Given the description of an element on the screen output the (x, y) to click on. 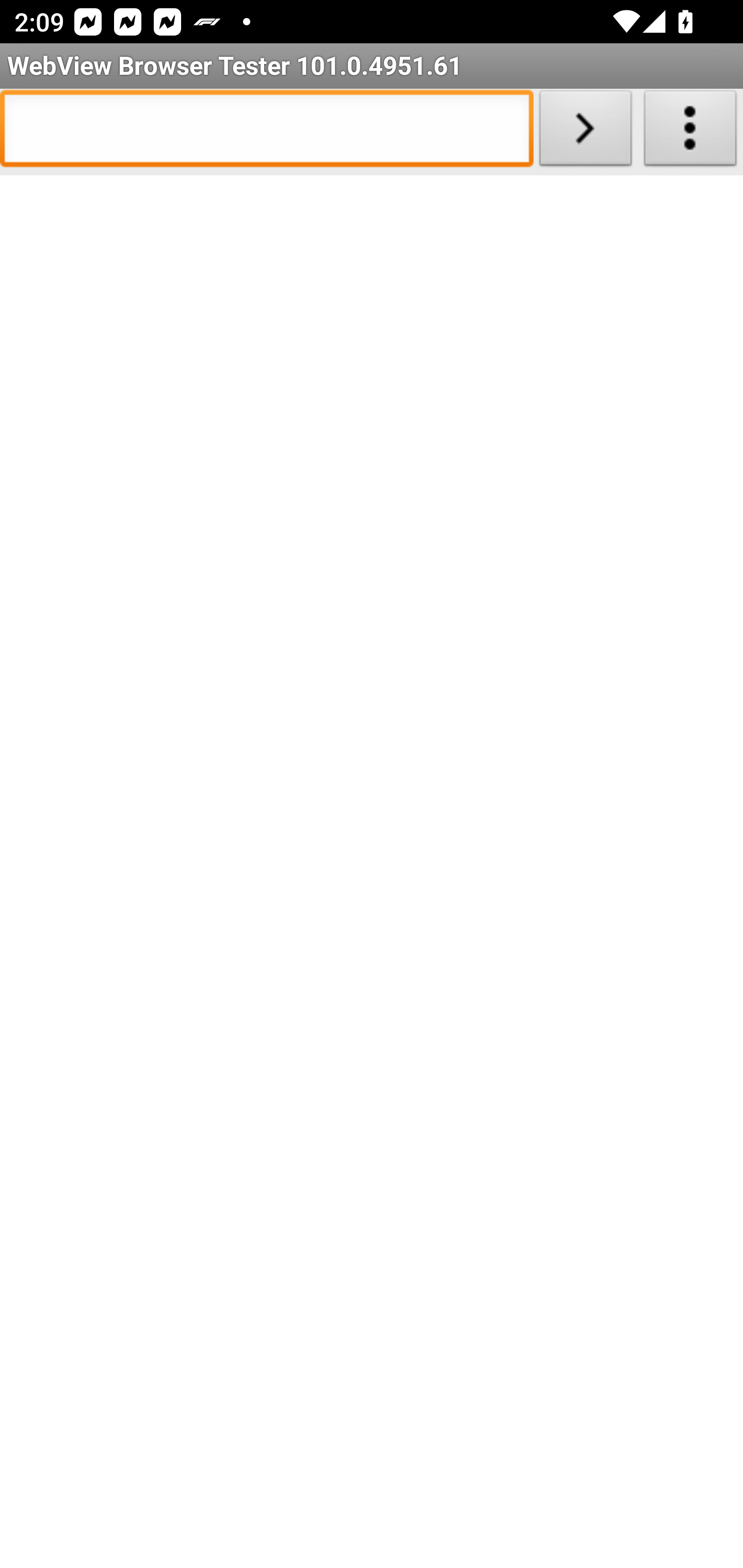
Load URL (585, 132)
About WebView (690, 132)
